Given the description of an element on the screen output the (x, y) to click on. 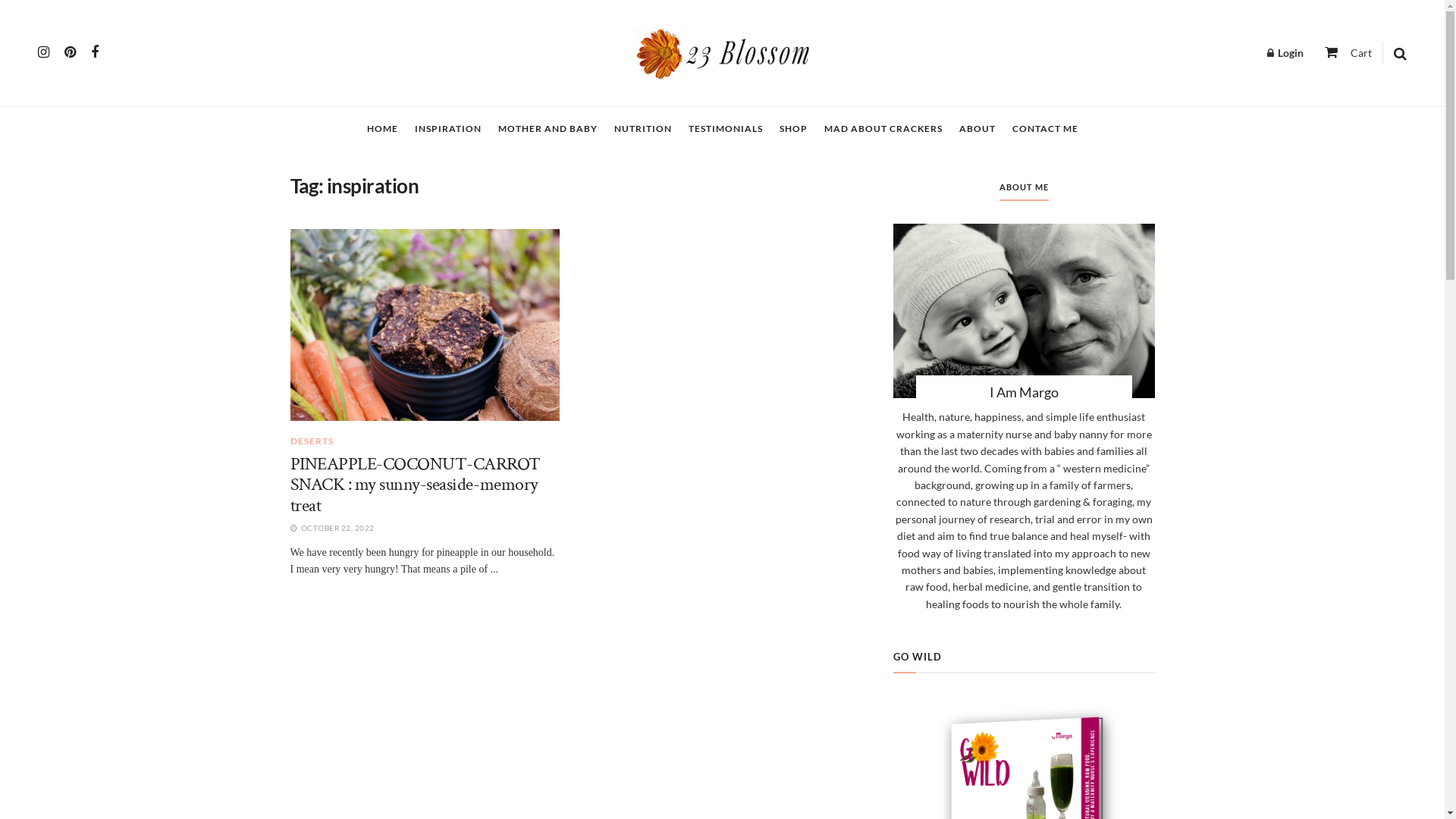
MOTHER AND BABY Element type: text (546, 128)
ABOUT Element type: text (976, 128)
TESTIMONIALS Element type: text (725, 128)
CONTACT ME Element type: text (1044, 128)
MAD ABOUT CRACKERS Element type: text (882, 128)
INSPIRATION Element type: text (447, 128)
Login Element type: text (1285, 53)
HOME Element type: text (382, 128)
SHOP Element type: text (793, 128)
NUTRITION Element type: text (642, 128)
Cart Element type: text (1347, 52)
DESERTS Element type: text (310, 440)
